Given the description of an element on the screen output the (x, y) to click on. 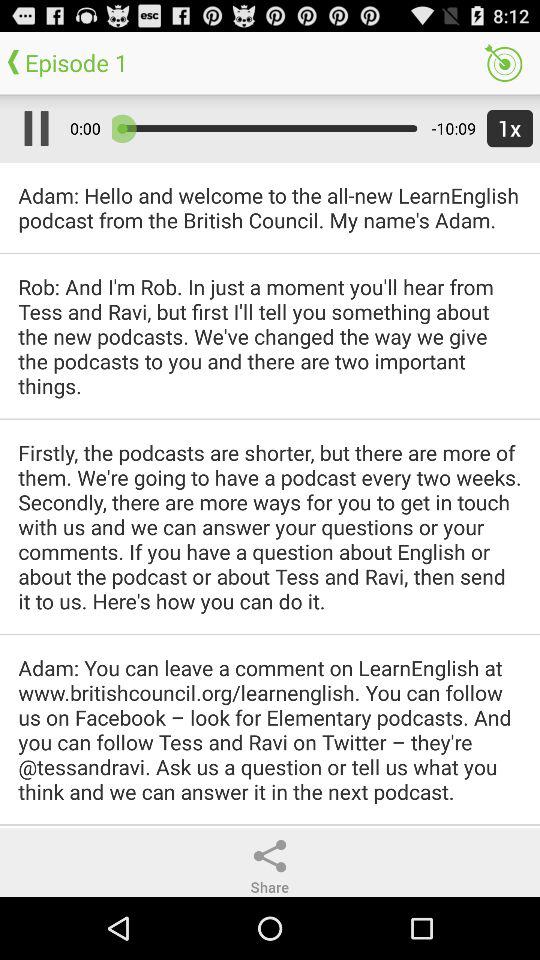
share (270, 856)
